Given the description of an element on the screen output the (x, y) to click on. 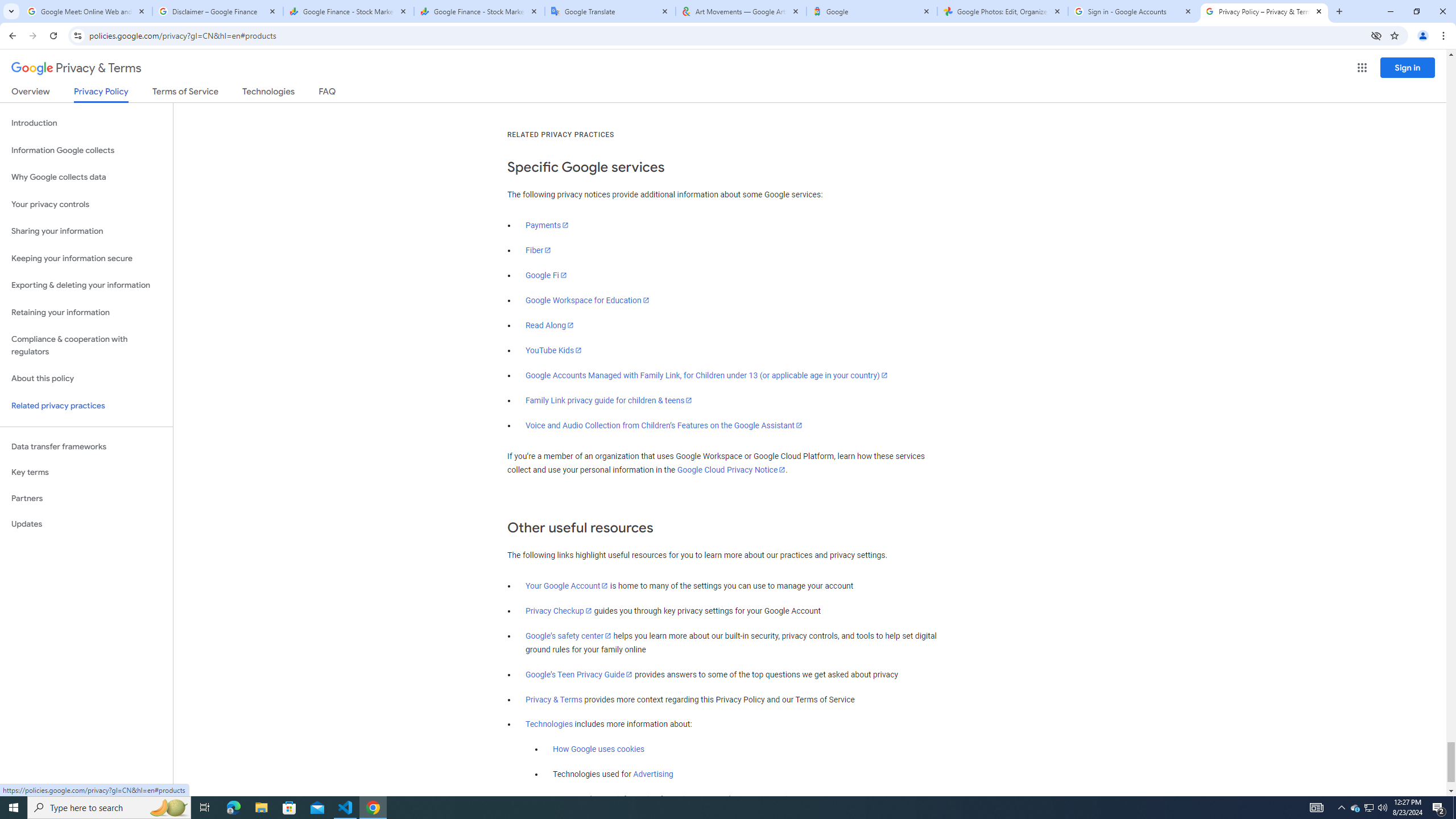
Exporting & deleting your information (86, 284)
Family Link privacy guide for children & teens (609, 400)
Fiber (538, 249)
Advertising (652, 774)
Compliance & cooperation with regulators (86, 345)
Why Google collects data (86, 176)
Related privacy practices (86, 405)
